Given the description of an element on the screen output the (x, y) to click on. 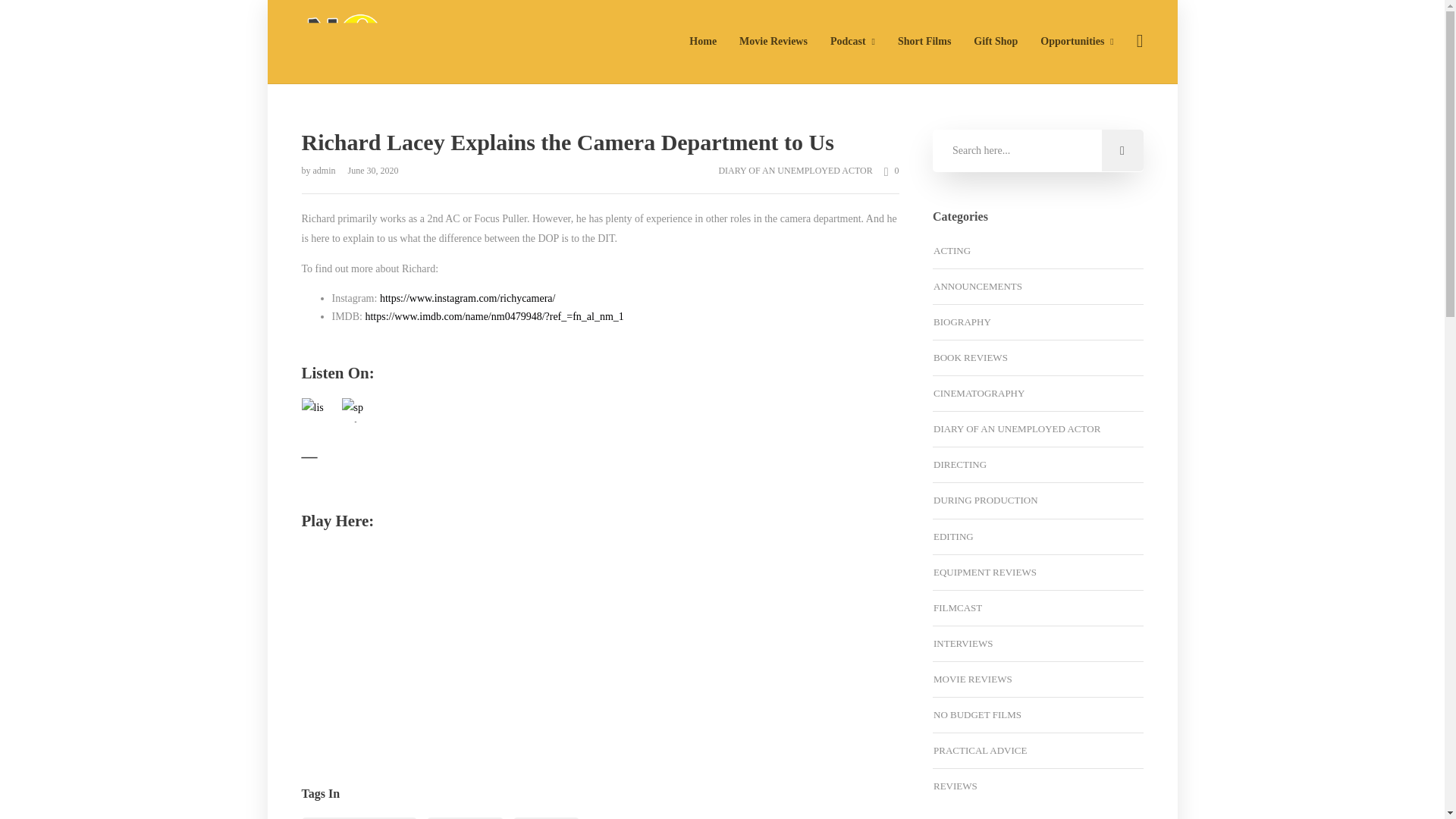
PODCAST (545, 818)
Opportunities (1077, 41)
Apple Podcast (313, 410)
CINEMATOGRAPHY (358, 818)
June 30, 2020 (367, 170)
admin (325, 170)
Richard Lacey Explains the Camera Department to Us (600, 142)
Search text (1037, 150)
DIARY OF AN UNEMPLOYED ACTOR (794, 170)
INTERVIEW (464, 818)
